Given the description of an element on the screen output the (x, y) to click on. 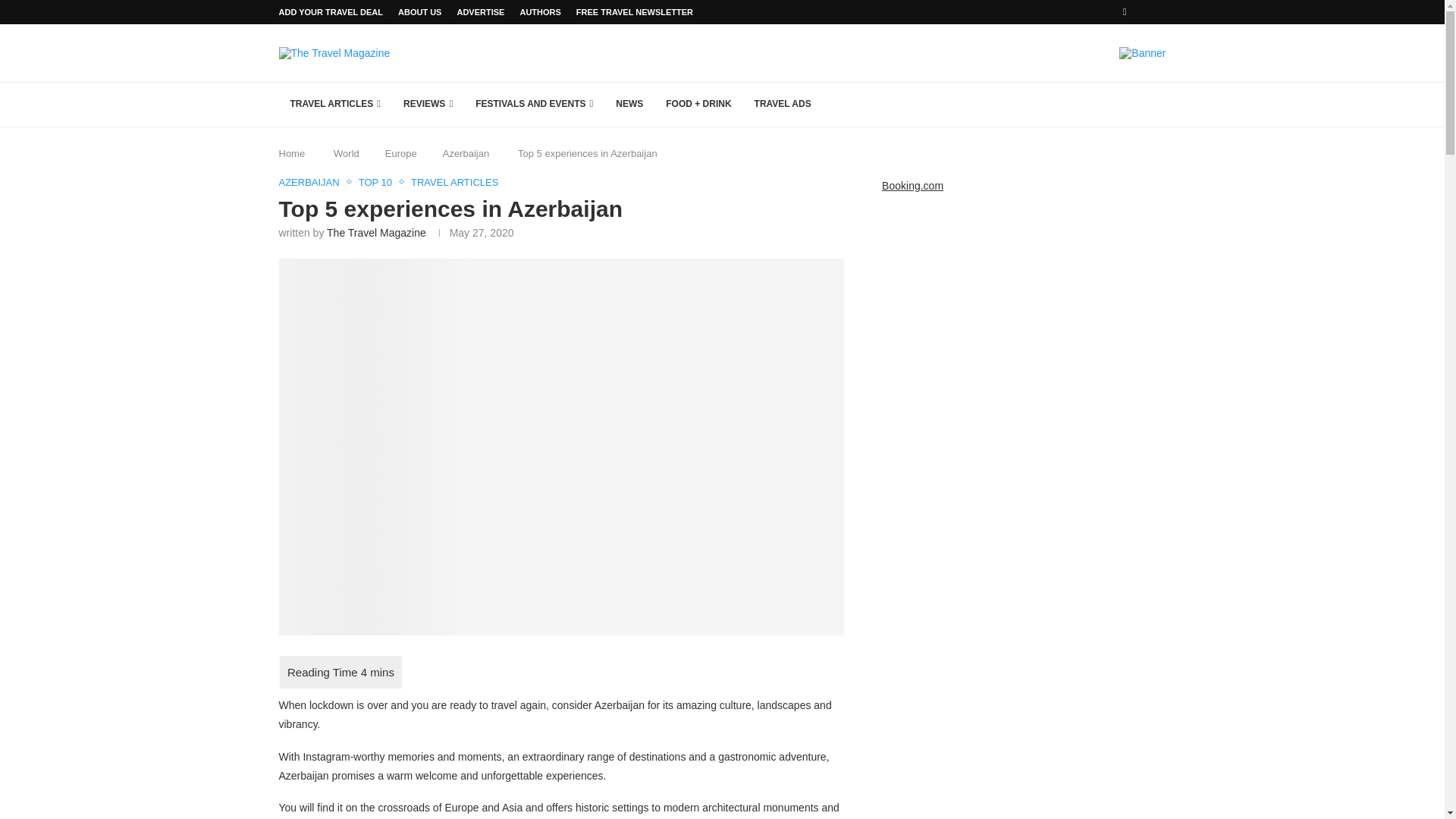
ABOUT US (419, 12)
ADD YOUR TRAVEL DEAL (331, 12)
Travel Articles (336, 104)
TRAVEL ADS (782, 104)
NEWS (628, 104)
Travel Reviews (427, 104)
Travel News (628, 104)
World (346, 153)
Travel Classifieds (782, 104)
TRAVEL ARTICLES (336, 104)
